Given the description of an element on the screen output the (x, y) to click on. 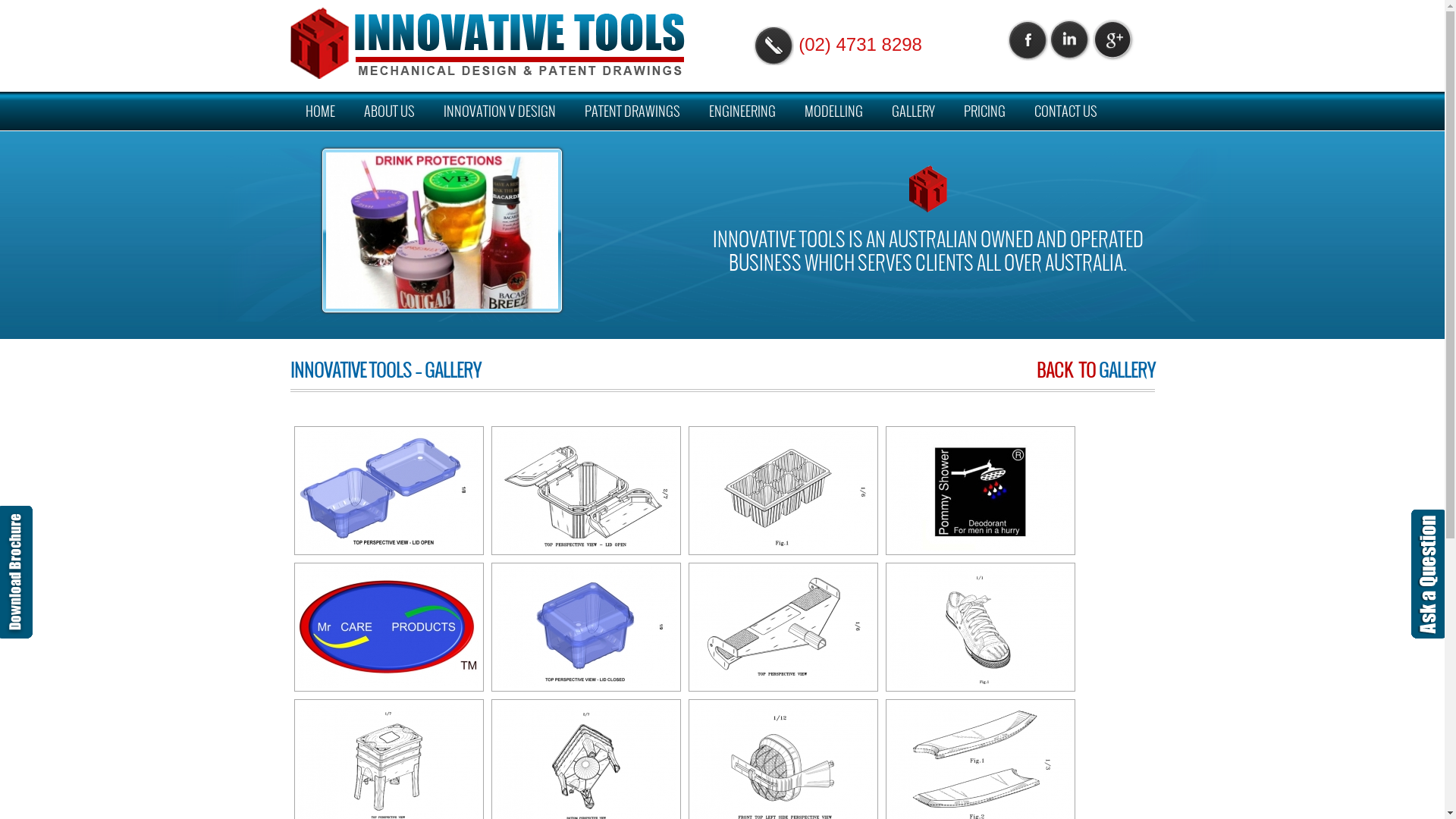
CONTACT US Element type: text (1065, 110)
Linkedin Element type: hover (1070, 39)
  Element type: hover (585, 490)
# Element type: hover (486, 42)
GALLERY Element type: text (913, 110)
INNOVATION V DESIGN Element type: text (498, 110)
Ask Element type: hover (1428, 573)
  Element type: hover (585, 626)
PATENT DRAWINGS Element type: text (631, 110)
MODELLING Element type: text (832, 110)
BACK  TO  GALLERY Element type: text (1094, 369)
google plus Element type: hover (1113, 39)
  Element type: hover (388, 490)
HOME Element type: text (319, 110)
Facebook Element type: hover (1026, 39)
ENGINEERING Element type: text (741, 110)
  Element type: hover (979, 490)
  Element type: hover (388, 626)
  Element type: hover (979, 626)
PRICING Element type: text (983, 110)
  Element type: hover (782, 626)
  Element type: hover (782, 490)
ABOUT US Element type: text (389, 110)
